Given the description of an element on the screen output the (x, y) to click on. 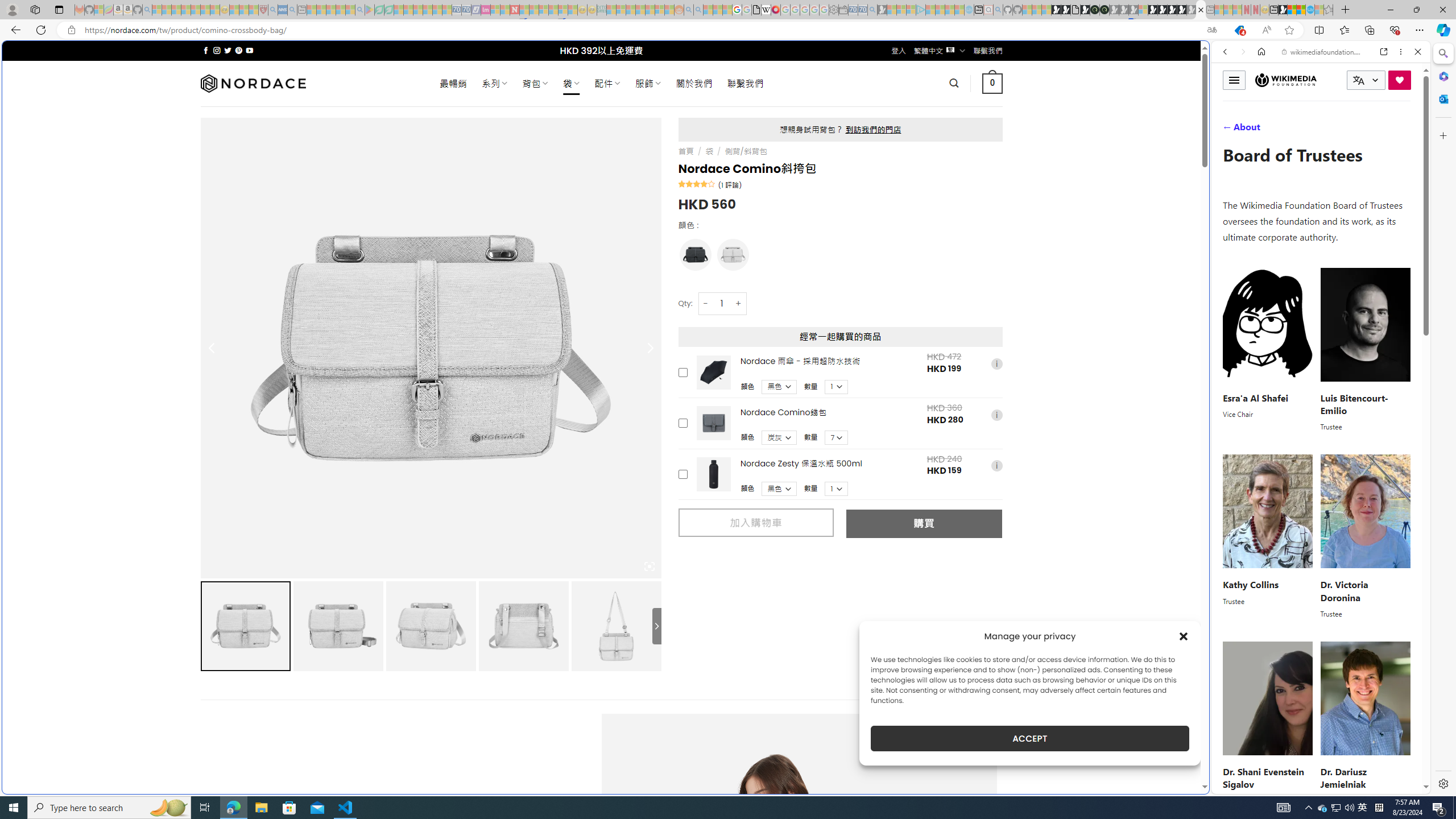
Toggle menu (1233, 80)
ACCEPT (1029, 738)
Follow on Pinterest (237, 50)
Shani Evenstein (1268, 698)
Dr. Victoria DoroninaTrustee (1365, 536)
